Given the description of an element on the screen output the (x, y) to click on. 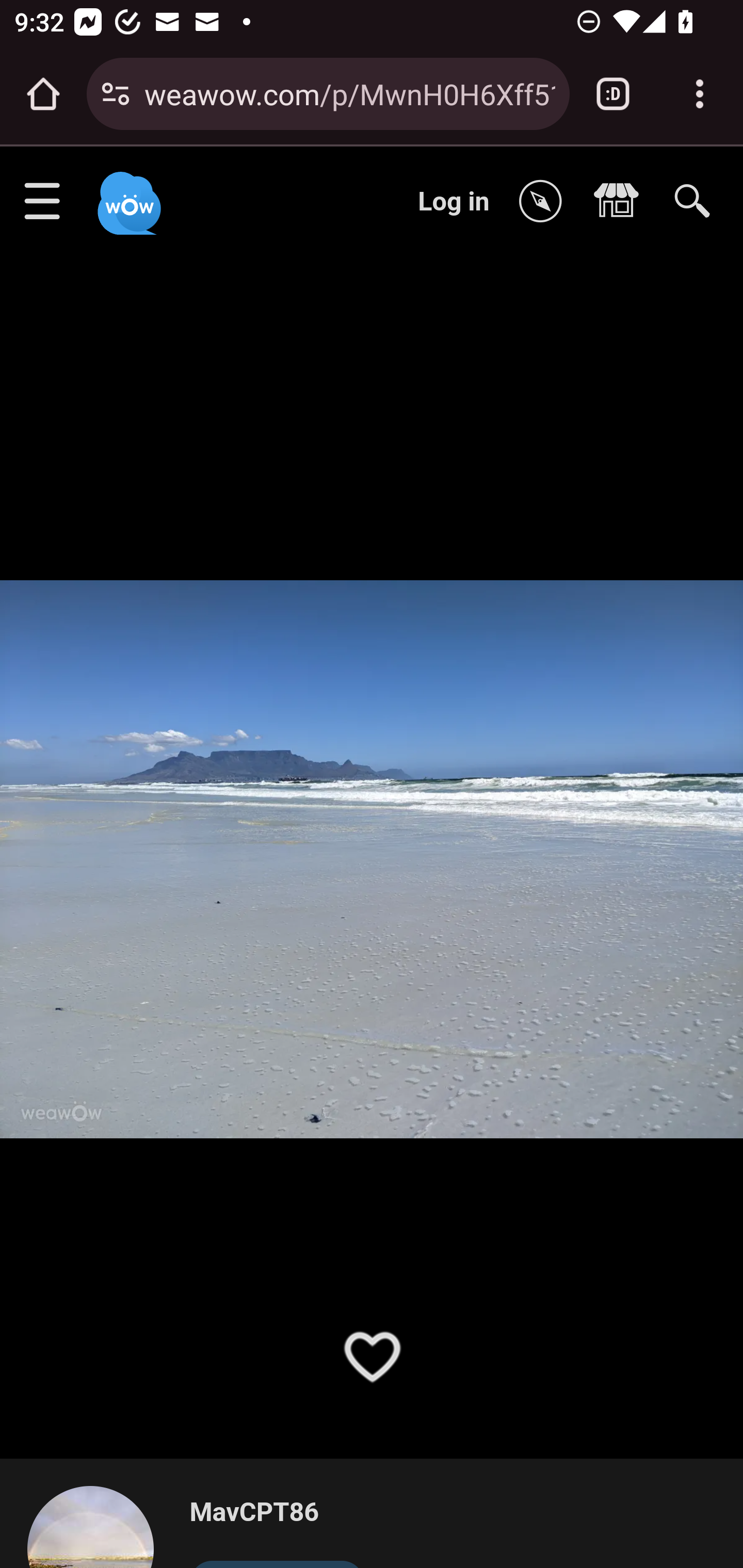
Open the home page (43, 93)
Connection is secure (115, 93)
Switch or close tabs (612, 93)
Customize and control Google Chrome (699, 93)
weawow.com/p/MwnH0H6Xff516563 (349, 92)
Weawow (127, 194)
 (545, 201)
 (621, 201)
Log in (453, 201)
MavCPT86 (275, 1513)
